Given the description of an element on the screen output the (x, y) to click on. 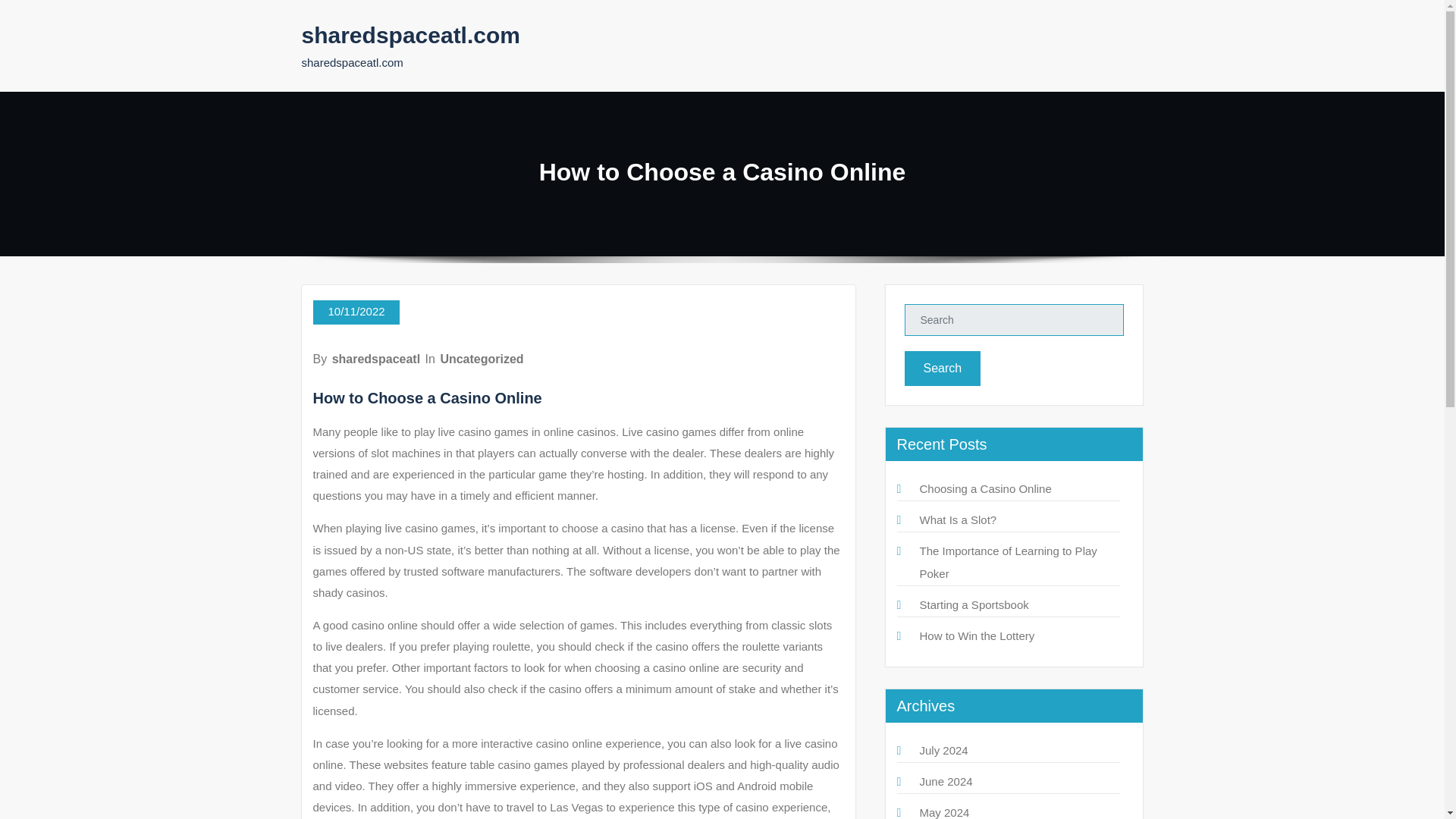
sharedspaceatl.com (410, 34)
The Importance of Learning to Play Poker (1007, 561)
What Is a Slot? (956, 519)
How to Win the Lottery (975, 635)
Uncategorized (481, 358)
July 2024 (943, 749)
Search (941, 368)
Starting a Sportsbook (972, 604)
May 2024 (943, 812)
June 2024 (945, 780)
sharedspaceatl (376, 358)
Choosing a Casino Online (984, 488)
